Given the description of an element on the screen output the (x, y) to click on. 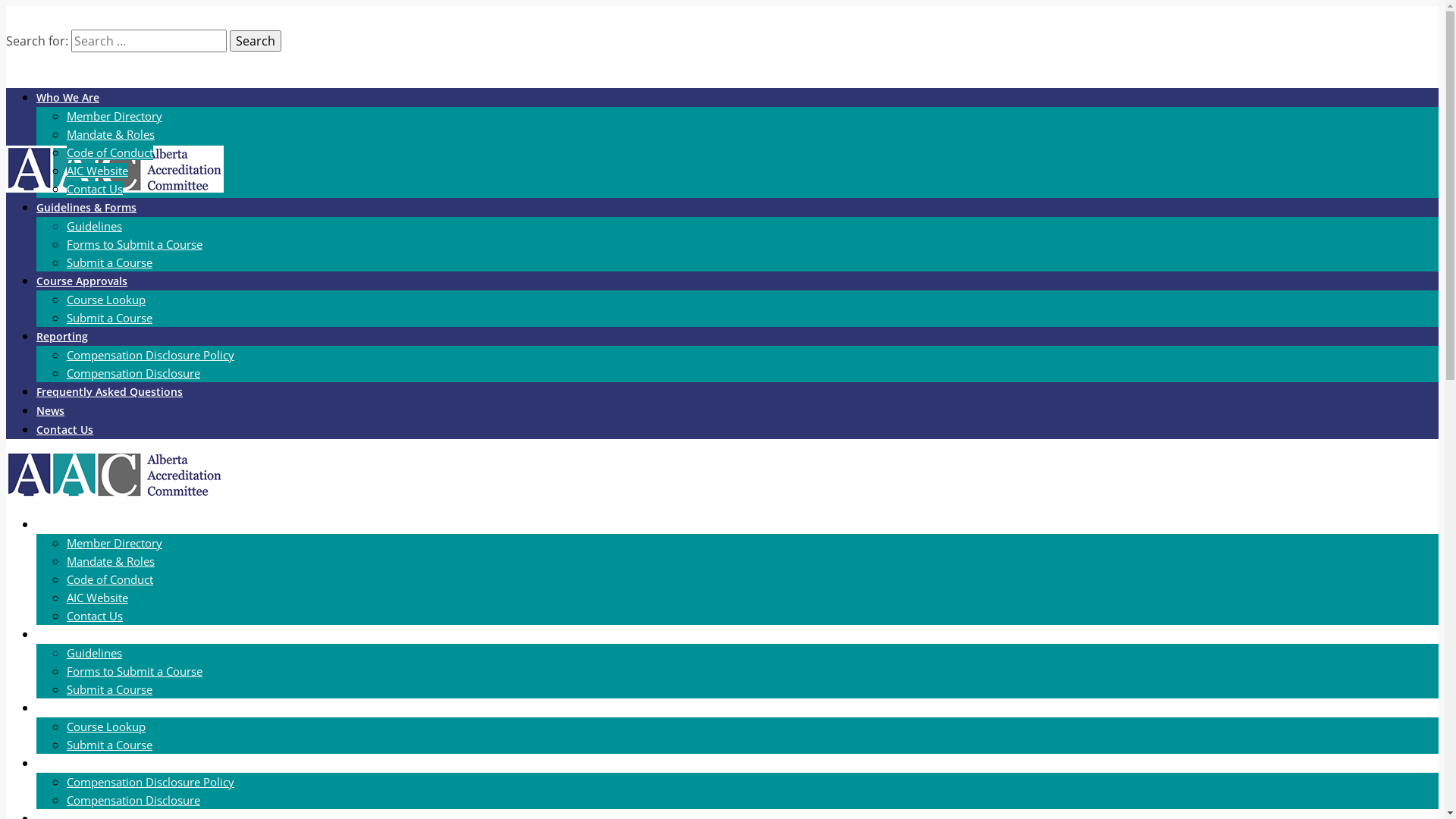
Reporting Element type: text (61, 336)
Contact Us Element type: text (64, 429)
Course Approvals Element type: text (81, 280)
Forms to Submit a Course Element type: text (134, 243)
Submit a Course Element type: text (109, 317)
Submit a Course Element type: text (109, 688)
Who We Are Element type: text (67, 524)
Guidelines & Forms Element type: text (86, 207)
AIC Website Element type: text (97, 170)
Mandate & Roles Element type: text (110, 133)
Member Directory Element type: text (114, 115)
Compensation Disclosure Policy Element type: text (150, 354)
Compensation Disclosure Policy Element type: text (150, 781)
Course Lookup Element type: text (105, 299)
Mandate & Roles Element type: text (110, 560)
Course Approvals Element type: text (81, 707)
Search Element type: text (255, 40)
AIC Website Element type: text (97, 597)
Guidelines Element type: text (94, 652)
Code of Conduct Element type: text (109, 152)
Reporting Element type: text (61, 763)
Submit a Course Element type: text (109, 744)
Guidelines Element type: text (94, 225)
Submit a Course Element type: text (109, 261)
Frequently Asked Questions Element type: text (109, 391)
Who We Are Element type: text (67, 97)
Contact Us Element type: text (94, 188)
Code of Conduct Element type: text (109, 578)
Member Directory Element type: text (114, 542)
Compensation Disclosure Element type: text (133, 372)
Compensation Disclosure Element type: text (133, 799)
Contact Us Element type: text (94, 615)
Guidelines & Forms Element type: text (86, 634)
News Element type: text (50, 410)
Forms to Submit a Course Element type: text (134, 670)
Course Lookup Element type: text (105, 726)
